Given the description of an element on the screen output the (x, y) to click on. 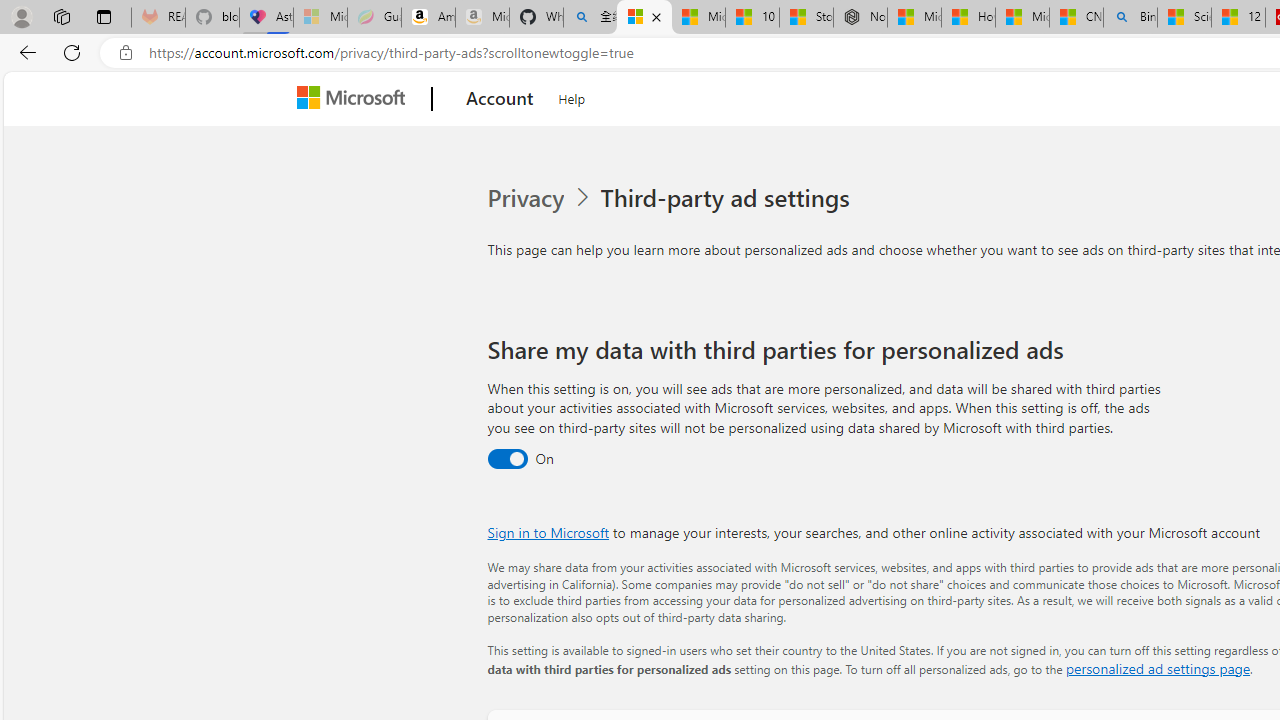
CNN - MSN (1076, 17)
Microsoft-Report a Concern to Bing - Sleeping (320, 17)
personalized ad settings page (1157, 668)
Privacy (541, 197)
